Given the description of an element on the screen output the (x, y) to click on. 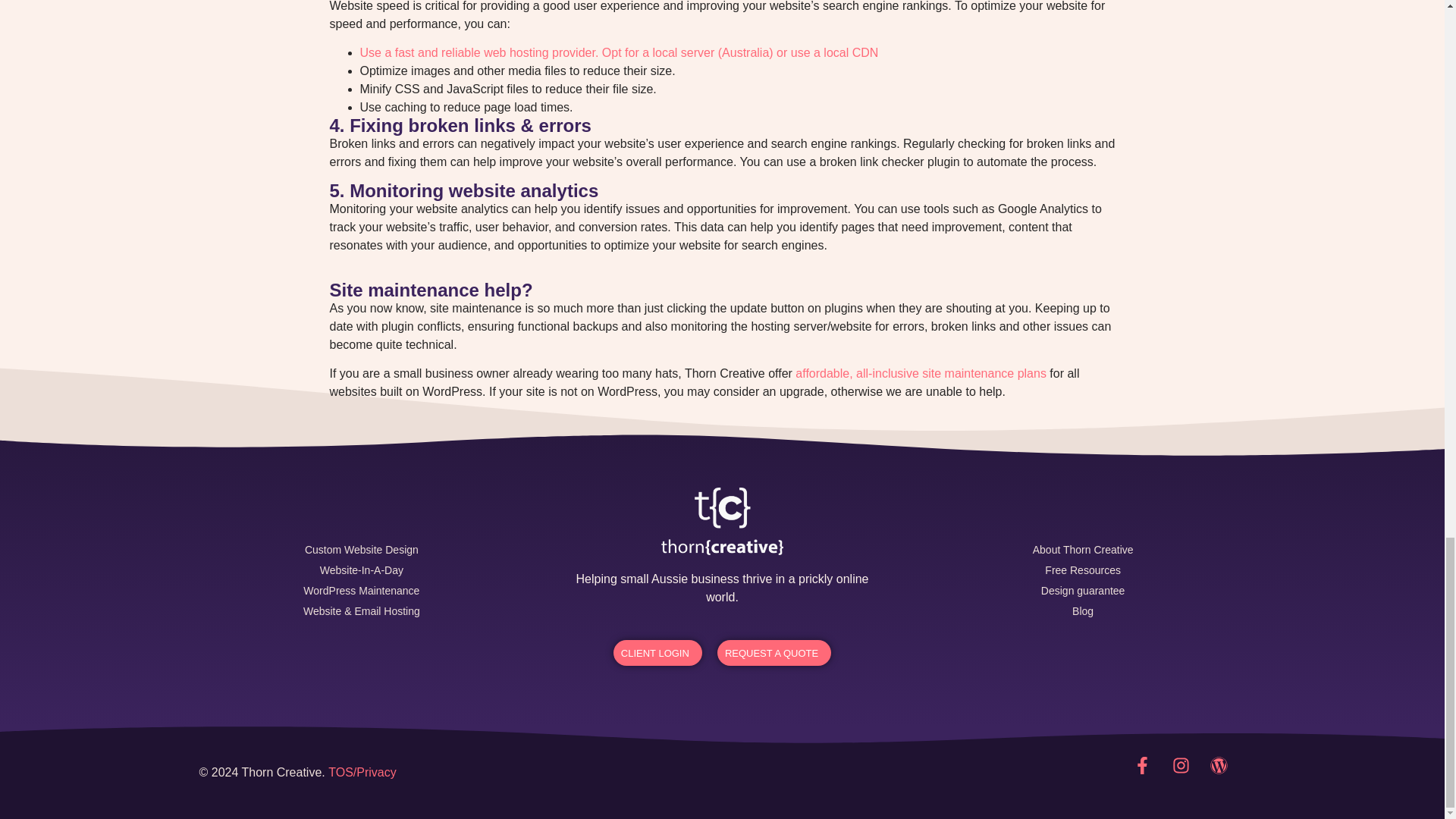
About Thorn Creative (1083, 549)
Free Resources (1083, 570)
affordable, all-inclusive site maintenance plans (920, 373)
CLIENT LOGIN (656, 652)
Website-In-A-Day (361, 570)
REQUEST A QUOTE (774, 652)
Blog (1083, 611)
Design guarantee (1083, 590)
Custom Website Design (361, 549)
WordPress Maintenance (361, 590)
